Given the description of an element on the screen output the (x, y) to click on. 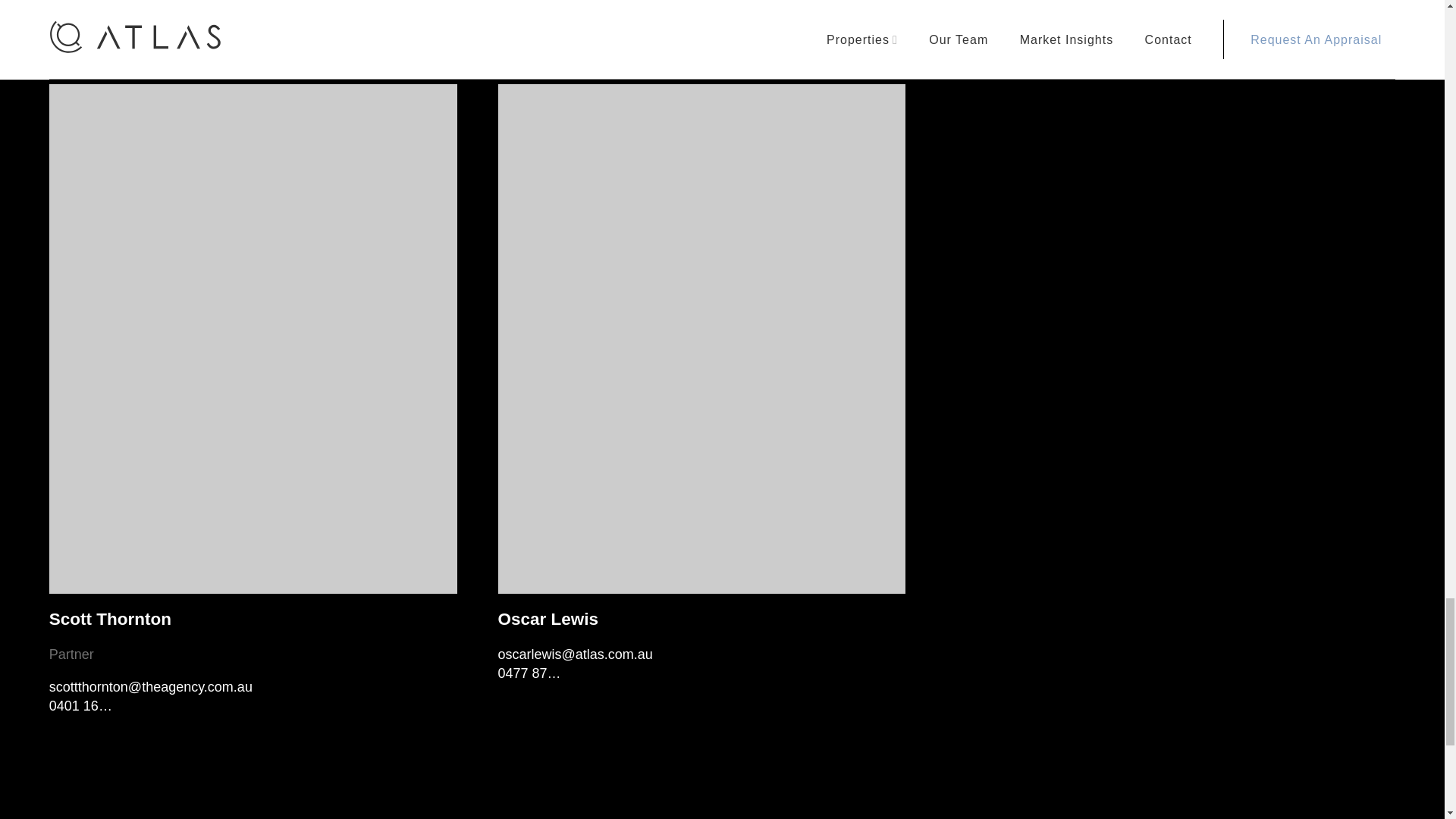
0401 161 696 (90, 705)
0477 877 299 (538, 672)
